Given the description of an element on the screen output the (x, y) to click on. 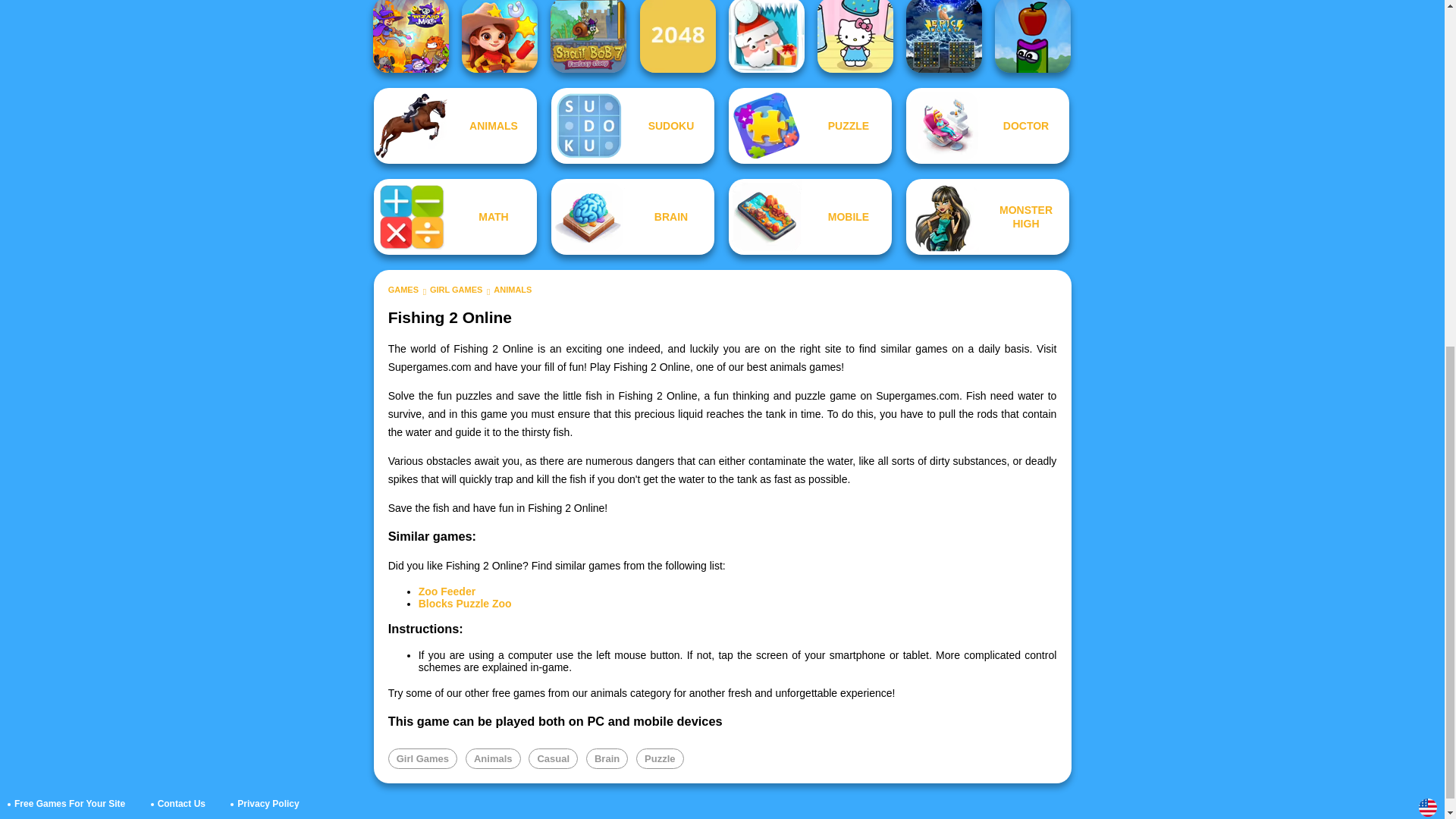
Zoo Feeder (447, 591)
Animals (493, 758)
Wild West Match (499, 36)
Girl Games (422, 758)
ANIMALS (512, 289)
MONSTER HIGH (986, 216)
SUDOKU (632, 125)
Brain (606, 758)
Animals (455, 125)
Free Games For Your Site (69, 803)
